Given the description of an element on the screen output the (x, y) to click on. 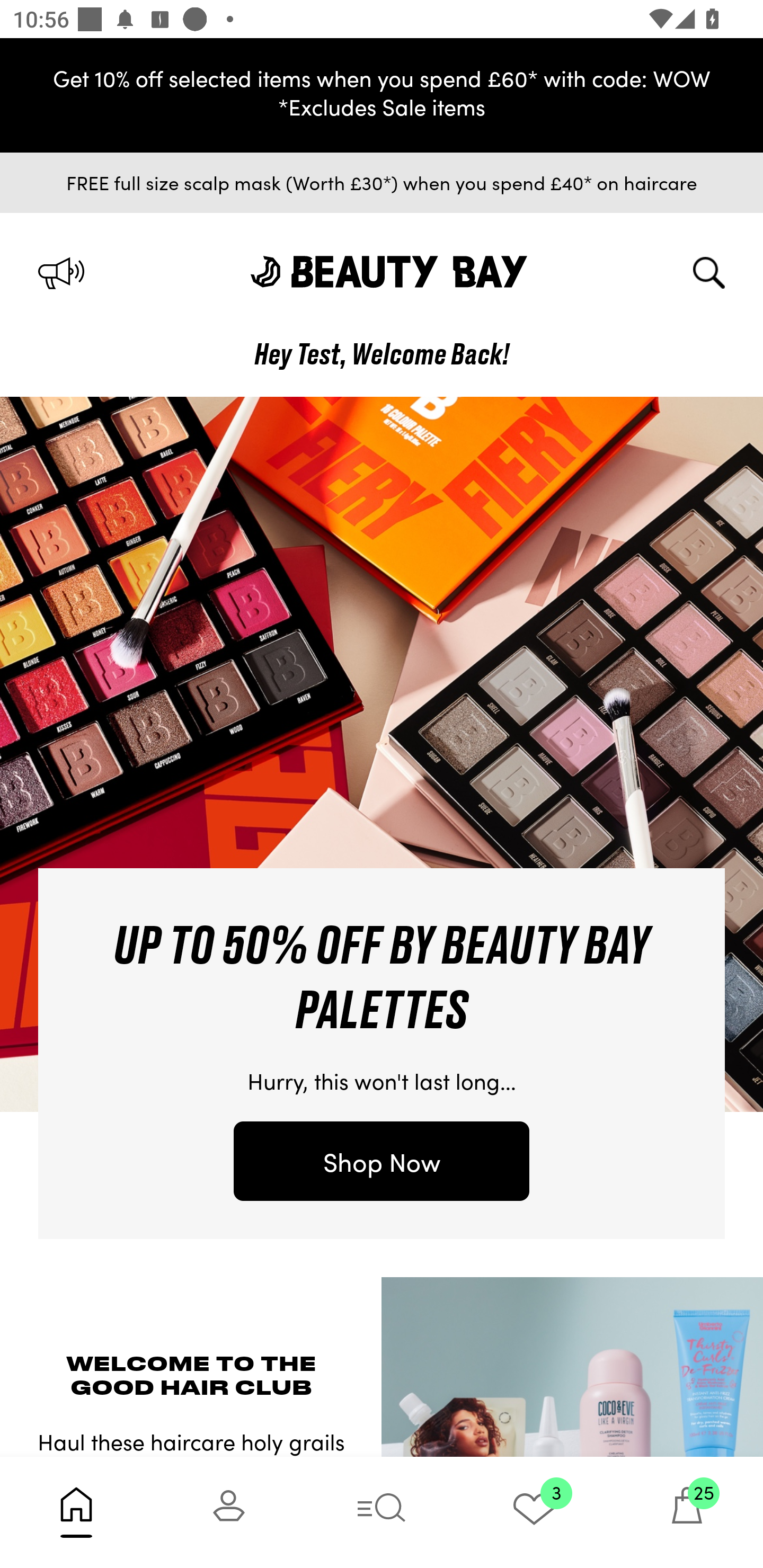
3 (533, 1512)
25 (686, 1512)
